Given the description of an element on the screen output the (x, y) to click on. 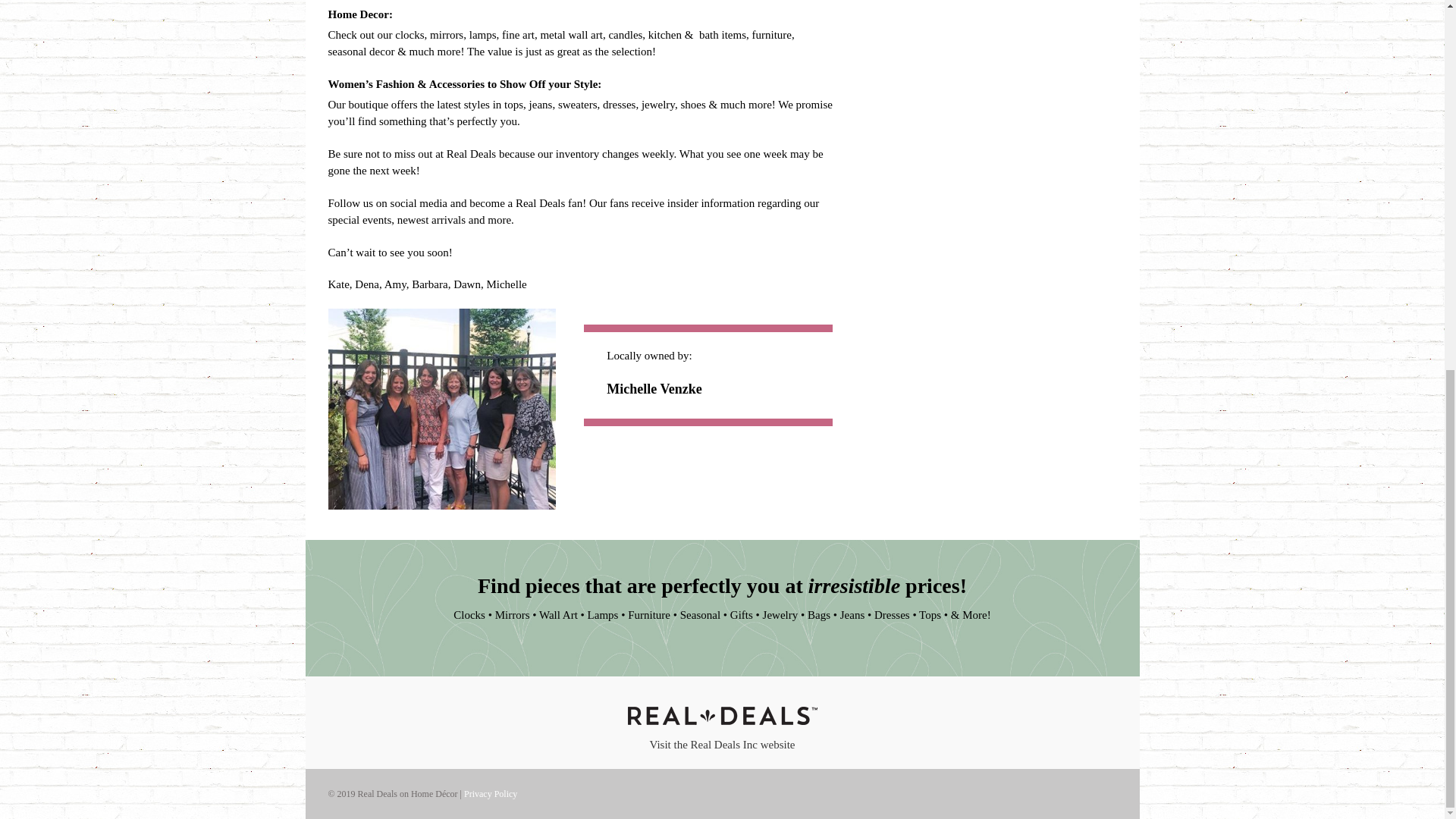
Visit the Real Deals Inc website (721, 744)
Privacy Policy (490, 793)
Real-Deals-Stevens-Point-Team (440, 409)
